Given the description of an element on the screen output the (x, y) to click on. 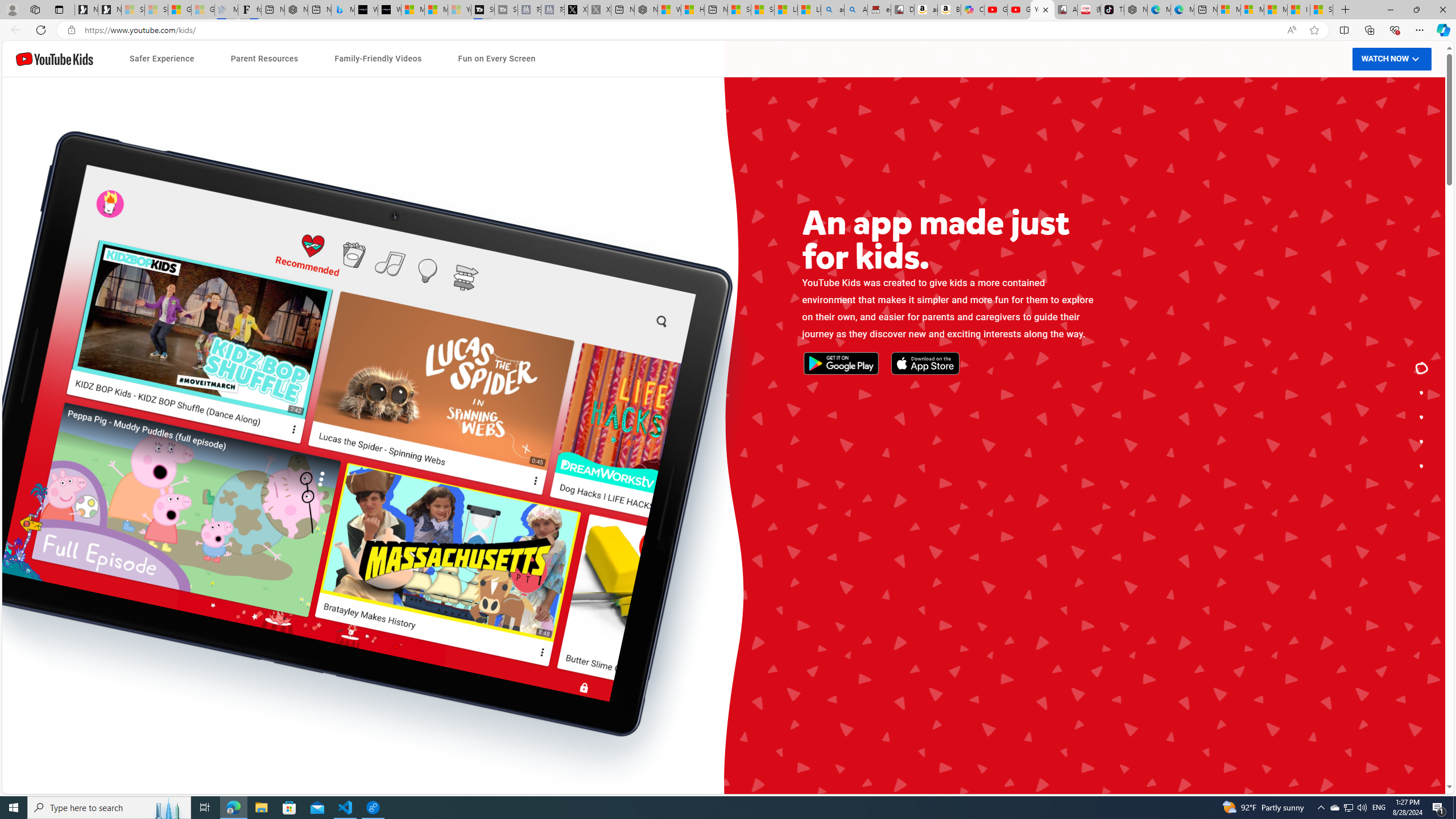
Copilot (972, 9)
YouTube Kids - An App Created for Kids to Explore Content (1042, 9)
amazon.in/dp/B0CX59H5W7/?tag=gsmcom05-21 (926, 9)
Download on the App Store (470, 432)
01 Arts & Crafts (950, 487)
Class: ytk-dot-nav__dot (1421, 466)
All kinds of videos for all kinds of kids. (1421, 441)
02 Toys & Play (950, 511)
A safer online experience for kids. (1421, 392)
Get it on Google Play (386, 432)
